Given the description of an element on the screen output the (x, y) to click on. 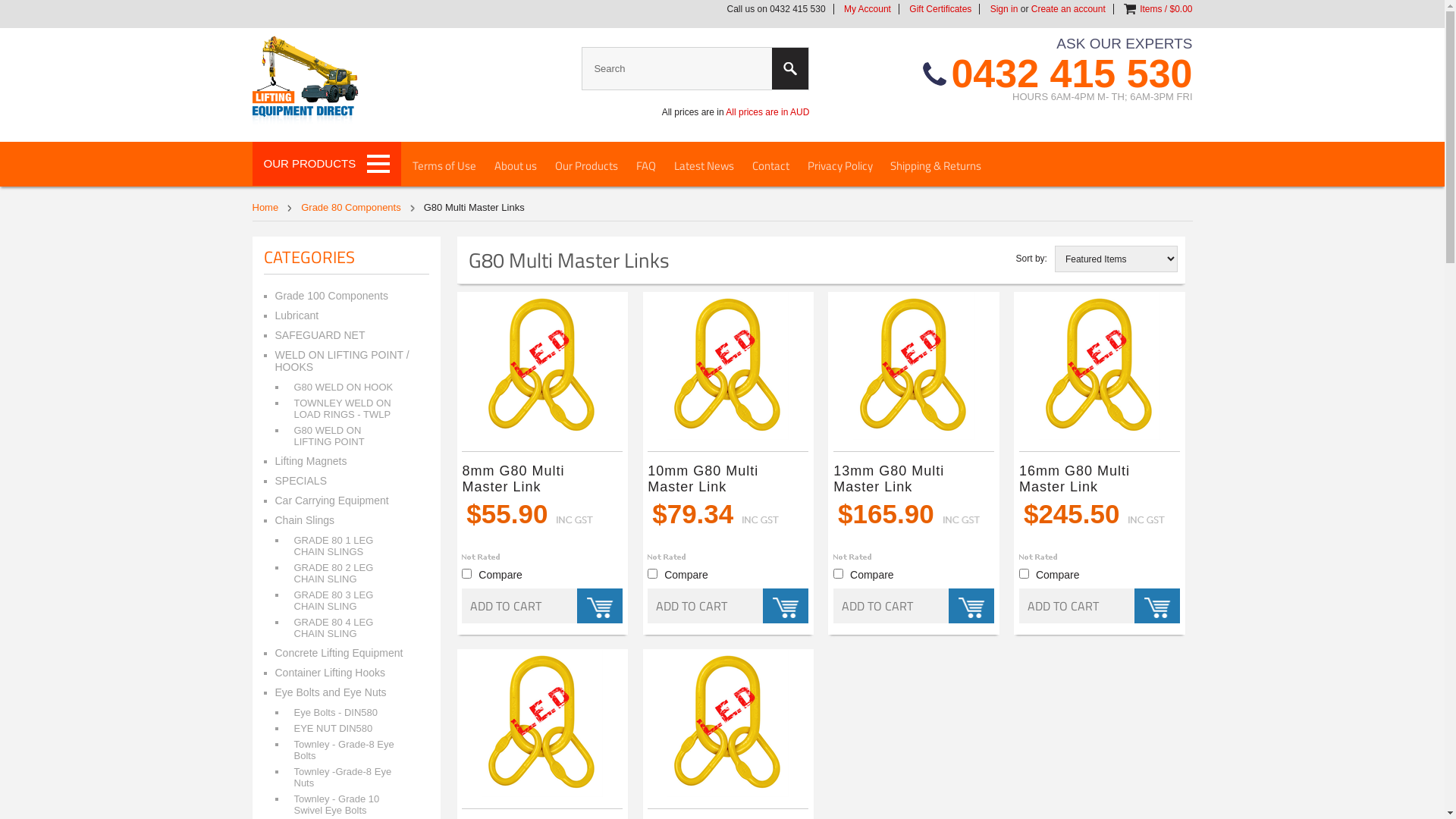
Search Element type: hover (789, 68)
About us Element type: text (515, 165)
Car Carrying Equipment Element type: text (343, 500)
Latest News Element type: text (704, 165)
Container Lifting Hooks Element type: text (343, 672)
ADD TO CART Element type: text (1099, 605)
WELD ON LIFTING POINT / HOOKS Element type: text (343, 360)
ADD TO CART Element type: text (541, 605)
EYE NUT DIN580 Element type: text (347, 728)
ADD TO CART Element type: text (727, 605)
664 Element type: text (652, 573)
Eye Bolts - DIN580 Element type: text (347, 712)
View Cart Element type: hover (1129, 8)
All prices are in AUD Element type: text (767, 111)
Lifting Magnets Element type: text (343, 461)
ADD TO CART Element type: text (913, 605)
Gift Certificates Element type: text (940, 8)
GRADE 80 4 LEG CHAIN SLING Element type: text (347, 627)
Grade 80 Components Element type: text (357, 207)
Create an account Element type: text (1068, 8)
G80 WELD ON HOOK Element type: text (347, 386)
10mm G80 Multi Master Link Element type: text (722, 480)
Contact Element type: text (770, 165)
My Account Element type: text (867, 8)
Privacy Policy Element type: text (839, 165)
Sign in Element type: text (1004, 8)
Items / $0.00 Element type: text (1165, 8)
GRADE 80 1 LEG CHAIN SLINGS Element type: text (347, 545)
Concrete Lifting Equipment Element type: text (343, 652)
GRADE 80 3 LEG CHAIN SLING Element type: text (347, 600)
SPECIALS Element type: text (343, 480)
Grade 100 Components Element type: text (343, 295)
13mm G80 Multi Master Link Element type: text (908, 480)
Chain Slings Element type: text (343, 520)
Our Products Element type: text (586, 165)
FAQ Element type: text (645, 165)
G80 WELD ON LIFTING POINT Element type: text (347, 435)
8mm G80 Multi Master Link Element type: text (536, 480)
Lubricant Element type: text (343, 315)
GRADE 80 2 LEG CHAIN SLING Element type: text (347, 572)
Terms of Use Element type: text (444, 165)
Townley - Grade-8 Eye Bolts Element type: text (347, 749)
16mm G80 Multi Master Link Element type: text (1094, 480)
Shipping & Returns Element type: text (935, 165)
Home Element type: text (271, 207)
148 Element type: text (466, 573)
Townley - Grade 10 Swivel Eye Bolts Element type: text (347, 804)
SAFEGUARD NET Element type: text (343, 335)
Eye Bolts and Eye Nuts Element type: text (343, 692)
Townley -Grade-8 Eye Nuts Element type: text (347, 776)
665 Element type: text (838, 573)
666 Element type: text (1024, 573)
TOWNLEY WELD ON LOAD RINGS - TWLP Element type: text (347, 408)
